Given the description of an element on the screen output the (x, y) to click on. 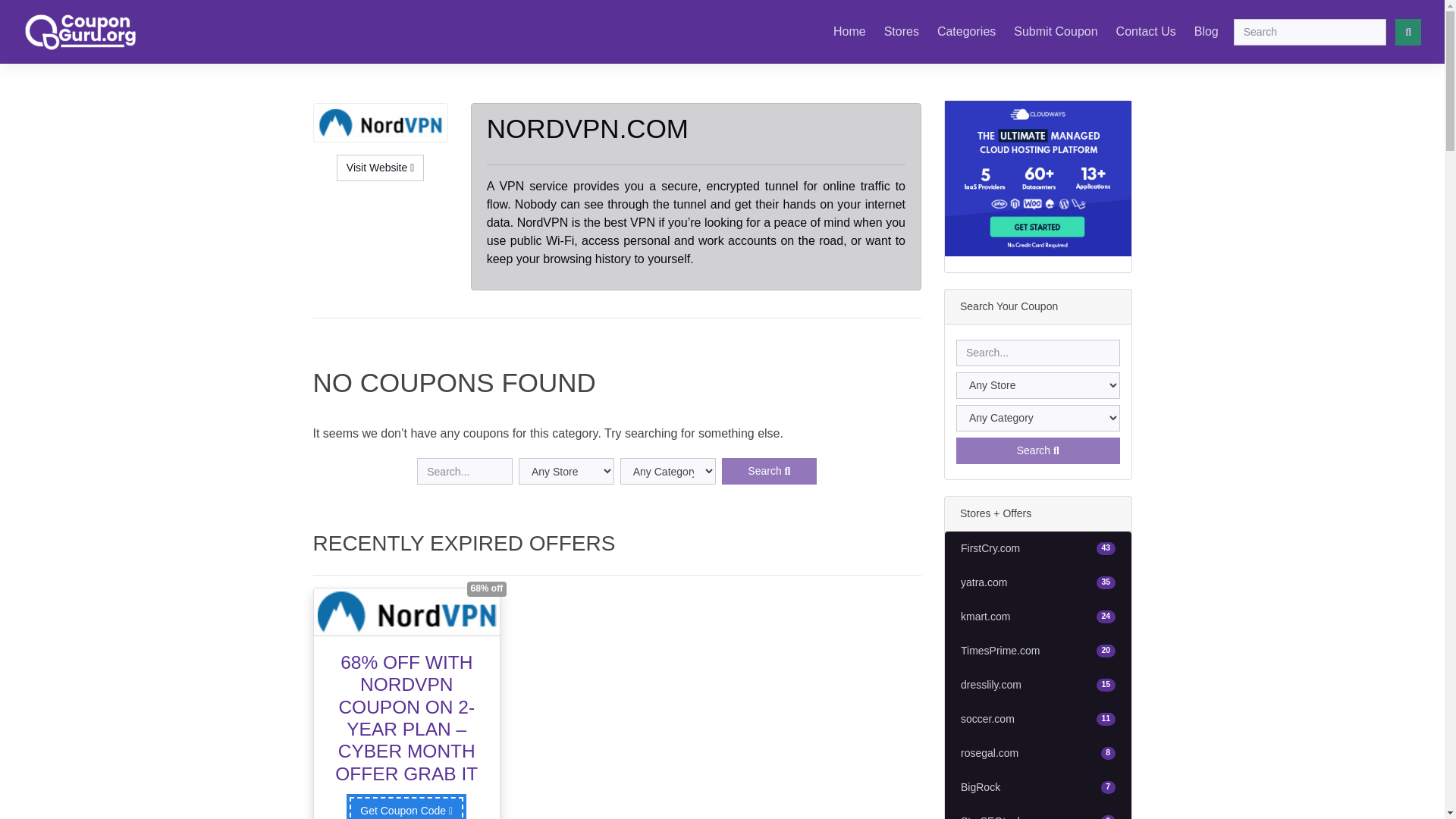
Home (1037, 548)
The Ultimate Managed Hosting Platform (849, 31)
Search (1037, 582)
Contact Us (1037, 178)
Categories (1037, 450)
Contact Us (1145, 31)
Stores (1037, 787)
Blog (966, 31)
Categories (1145, 31)
Submit Coupon (900, 31)
Stores (1206, 31)
